Given the description of an element on the screen output the (x, y) to click on. 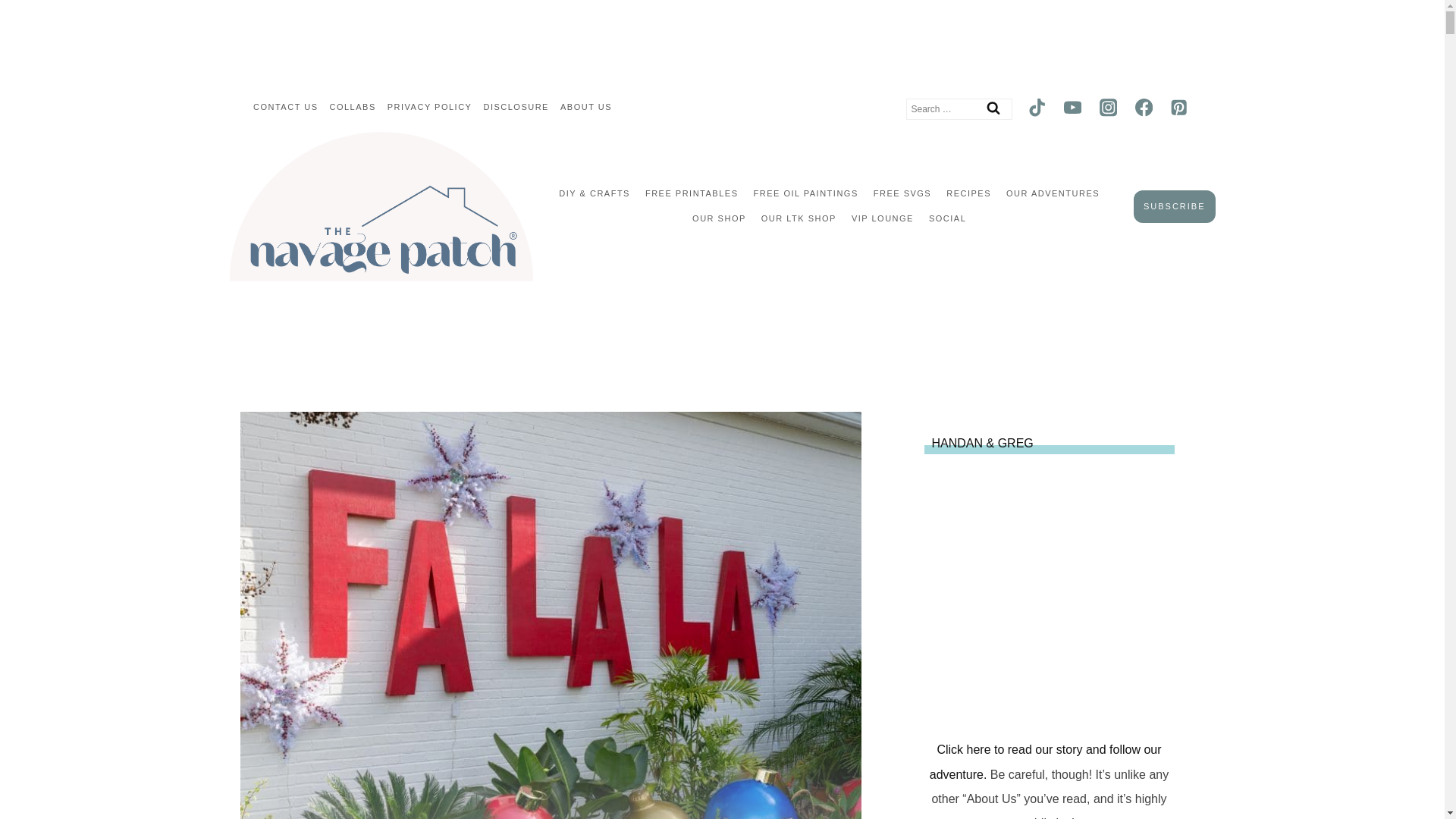
SOCIAL (953, 218)
OUR LTK SHOP (790, 218)
DISCLOSURE (515, 107)
OUR SHOP (712, 218)
FREE SVGS (902, 194)
SUBSCRIBE (1174, 206)
Search (992, 107)
PRIVACY POLICY (429, 107)
COLLABS (352, 107)
FREE PRINTABLES (691, 194)
THE VIP PATCH (882, 218)
OUR ADVENTURES (1052, 194)
Search (992, 107)
FREE OIL PAINTINGS (804, 194)
ABOUT US (585, 107)
